Given the description of an element on the screen output the (x, y) to click on. 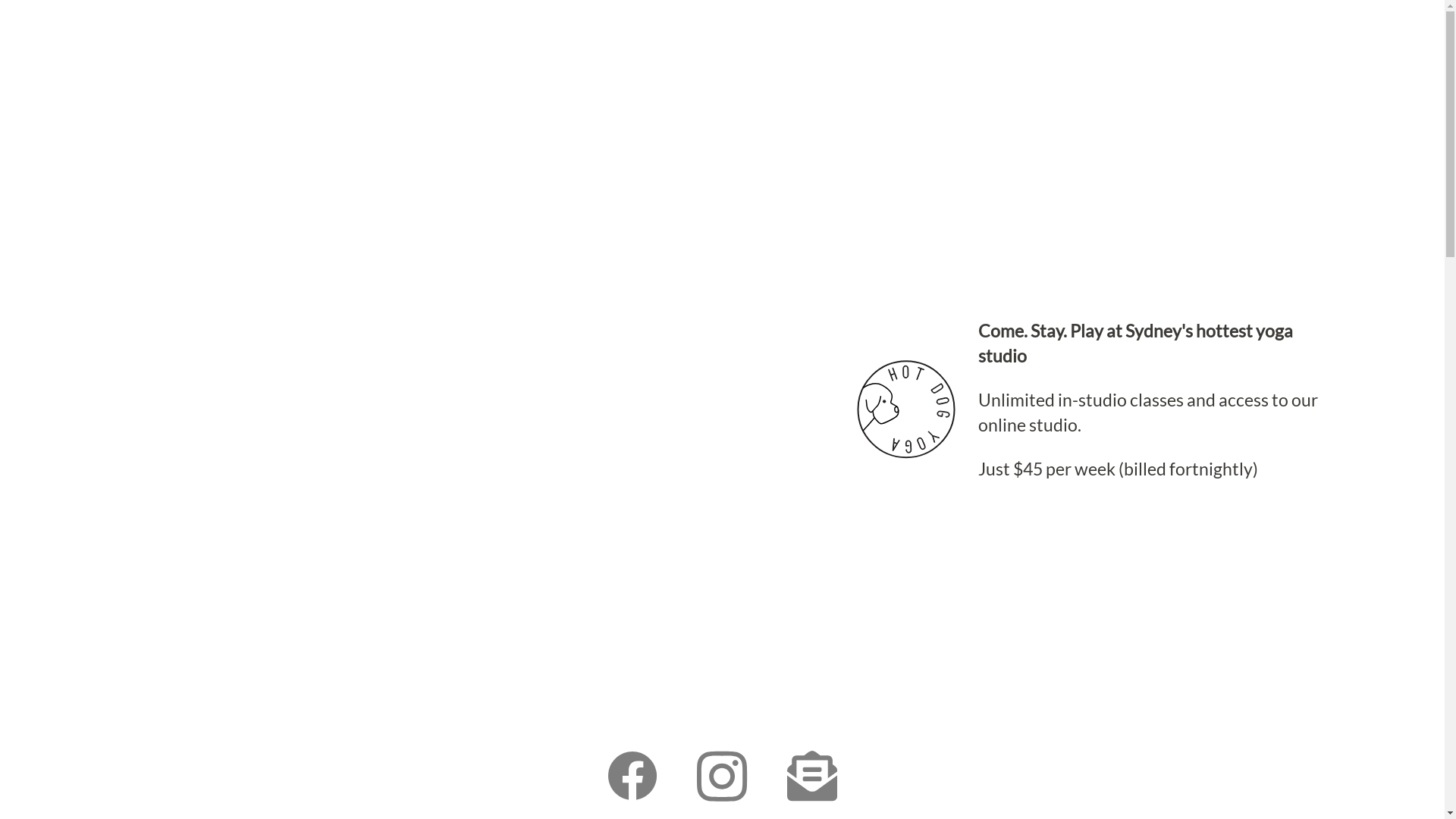
Follow us on Instagram Element type: text (721, 773)
Like us on Facebook Element type: text (632, 773)
Email Hot Dog Yoga Element type: text (812, 773)
